Given the description of an element on the screen output the (x, y) to click on. 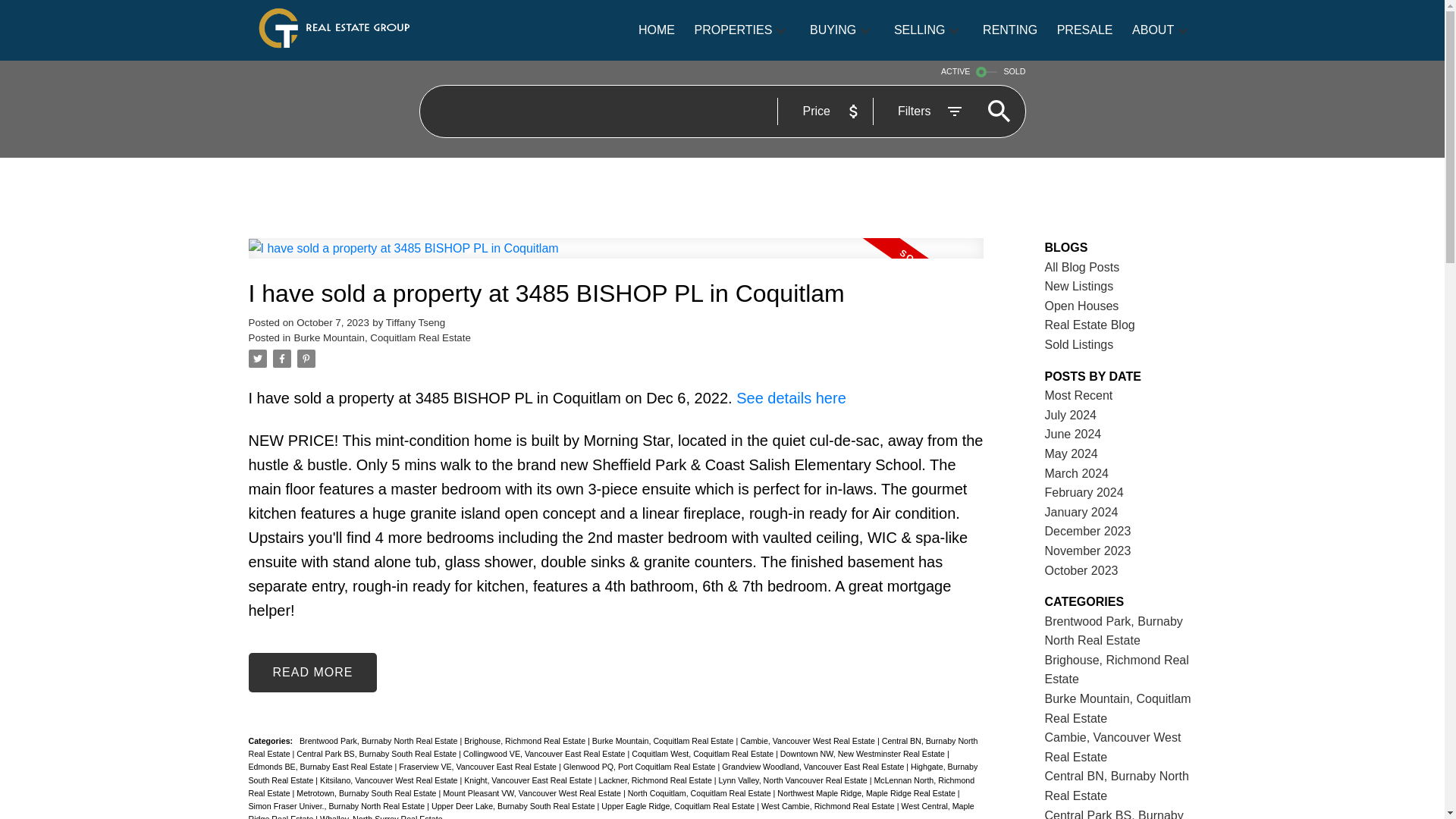
ABOUT (1152, 30)
Brighouse, Richmond Real Estate (526, 740)
See details here (790, 397)
Burke Mountain, Coquitlam Real Estate (382, 337)
Downtown NW, New Westminster Real Estate (863, 753)
Central BN, Burnaby North Real Estate (613, 747)
I have sold a property at 3485 BISHOP PL in Coquitlam (616, 293)
Cambie, Vancouver West Real Estate (808, 740)
Burke Mountain, Coquitlam Real Estate (664, 740)
Brentwood Park, Burnaby North Real Estate (379, 740)
